Given the description of an element on the screen output the (x, y) to click on. 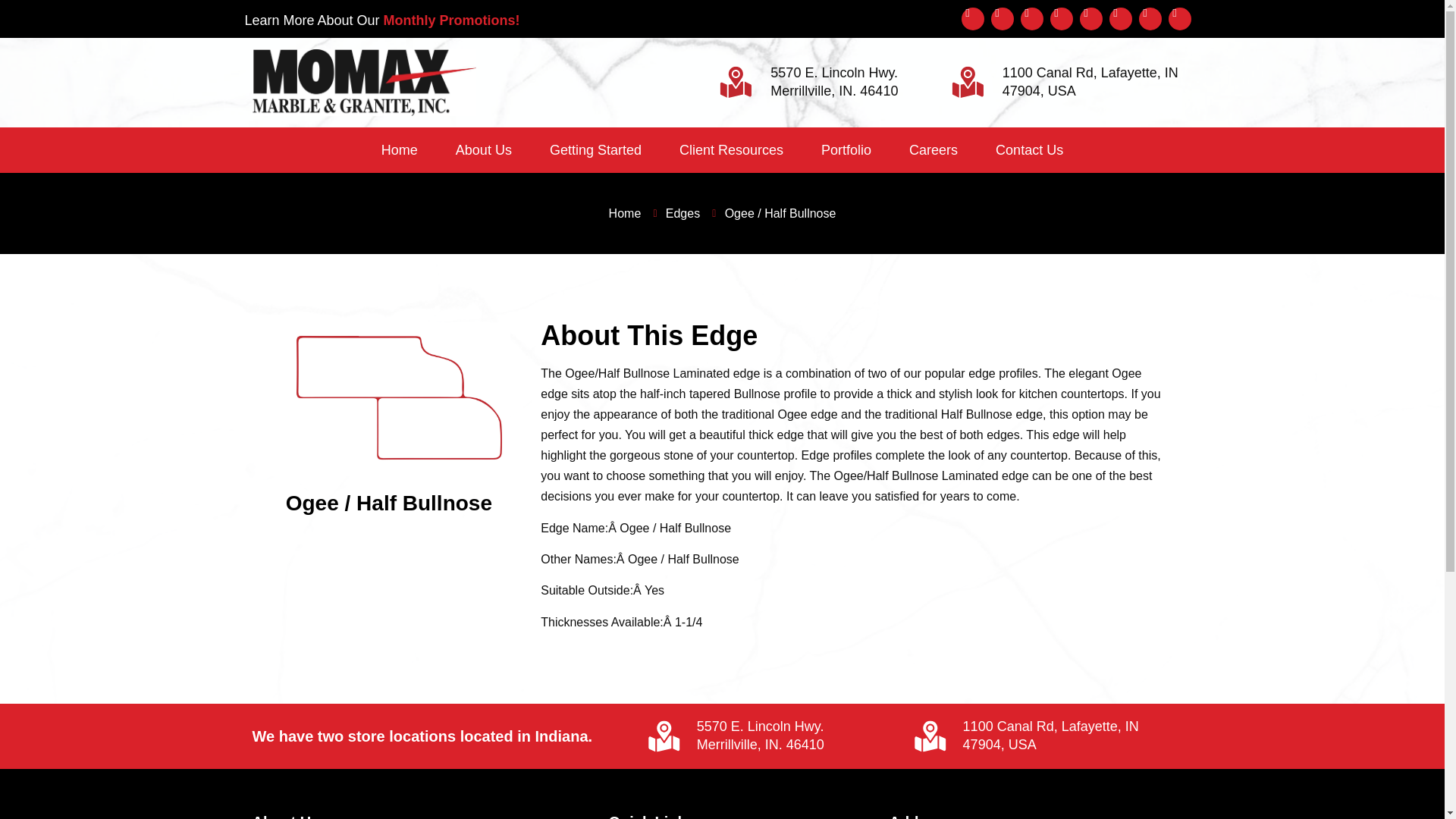
Contact Us (1028, 149)
Monthly Promotions (449, 20)
Portfolio (845, 149)
Client Resources (731, 149)
Careers (932, 149)
Getting Started (596, 149)
About Us (483, 149)
Home (399, 149)
